Given the description of an element on the screen output the (x, y) to click on. 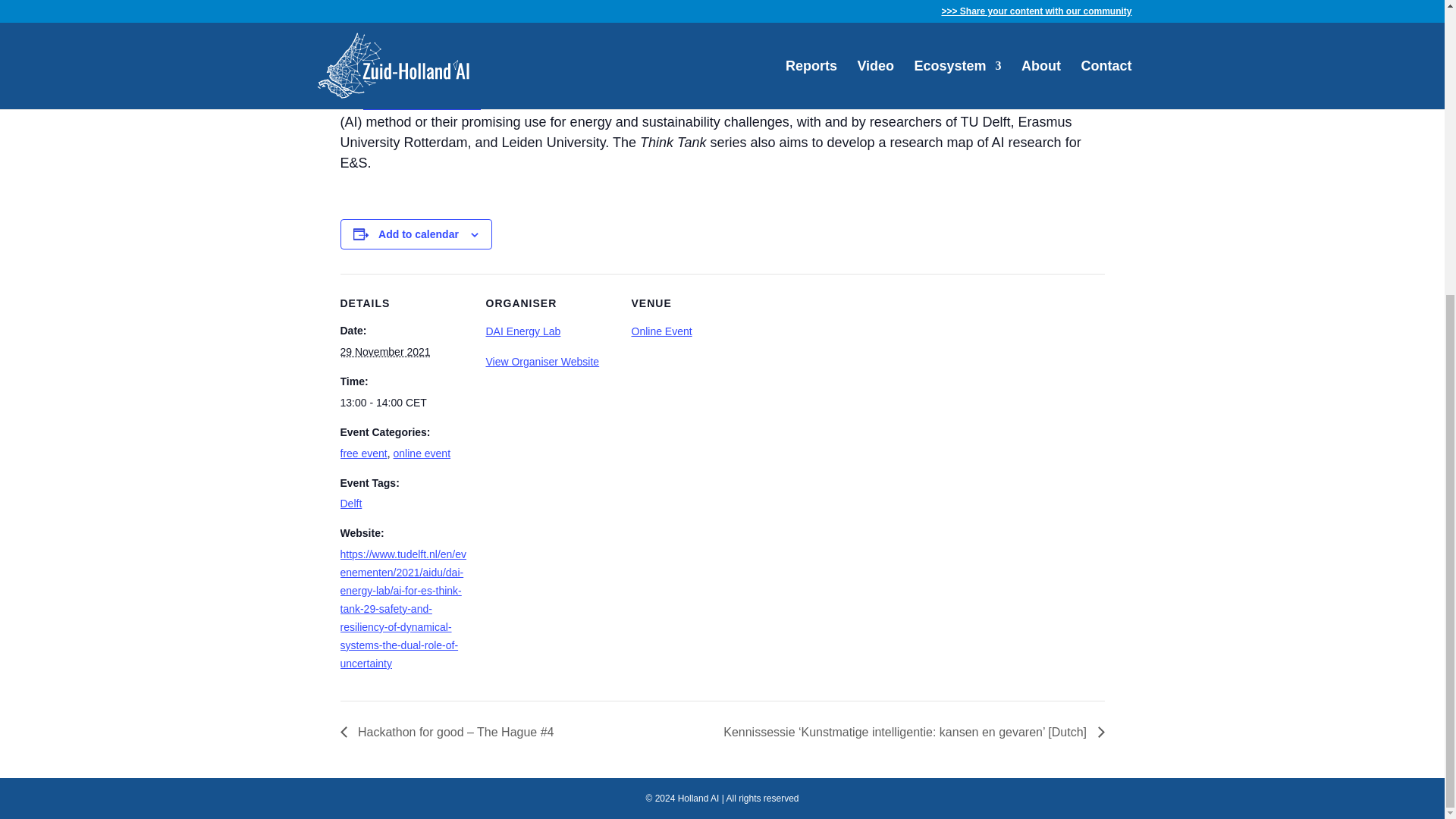
online event (422, 453)
2021-11-29 (403, 402)
DAI Energy Lab (522, 331)
DAI Energy Lab (966, 81)
PowerWeb Institute (421, 101)
Add to calendar (418, 234)
free event (363, 453)
DAI Energy Lab (522, 331)
2021-11-29 (384, 351)
Delft (350, 503)
View Organiser Website (541, 361)
Online Event (660, 331)
